Given the description of an element on the screen output the (x, y) to click on. 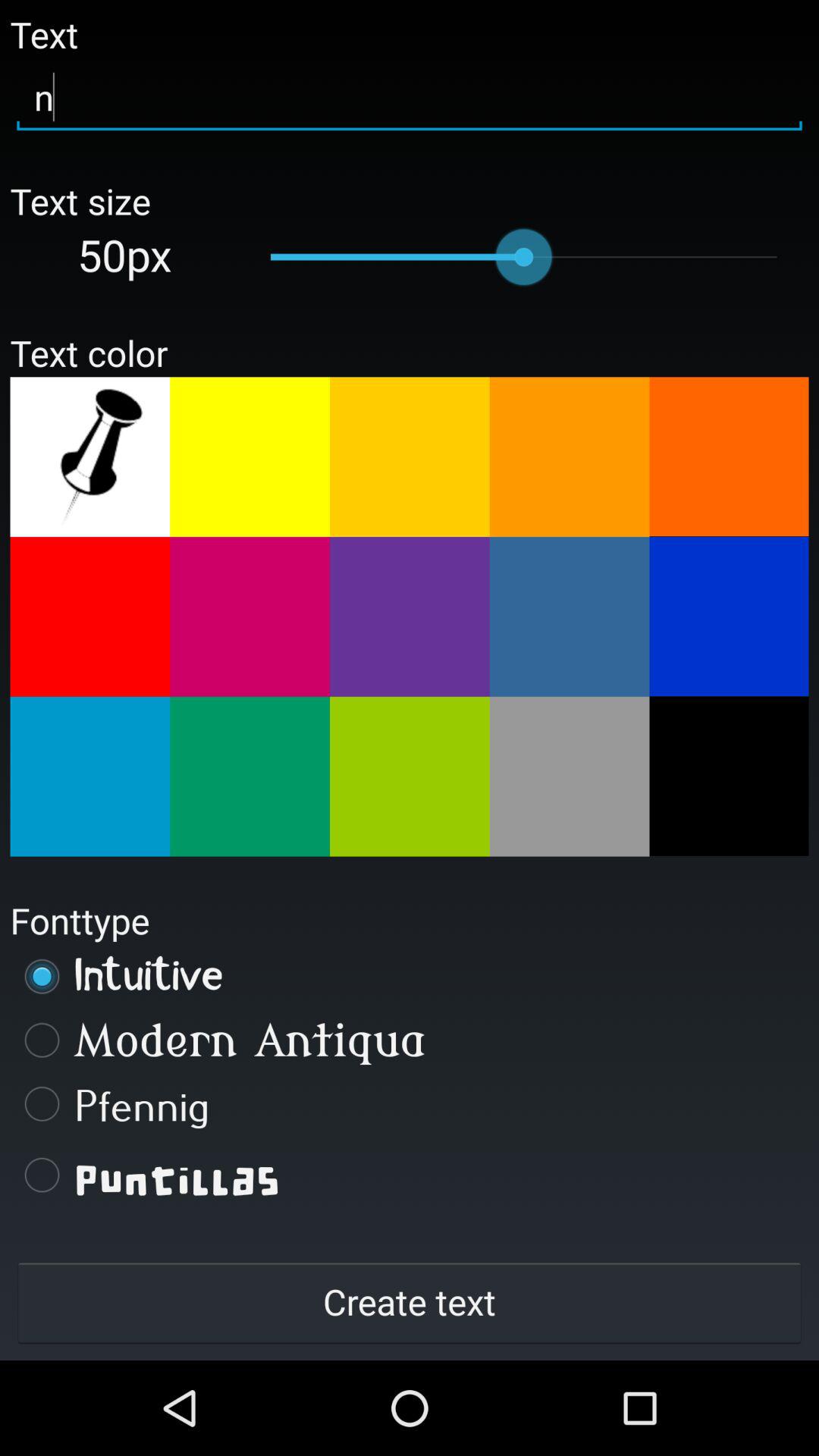
select text color black (728, 775)
